Given the description of an element on the screen output the (x, y) to click on. 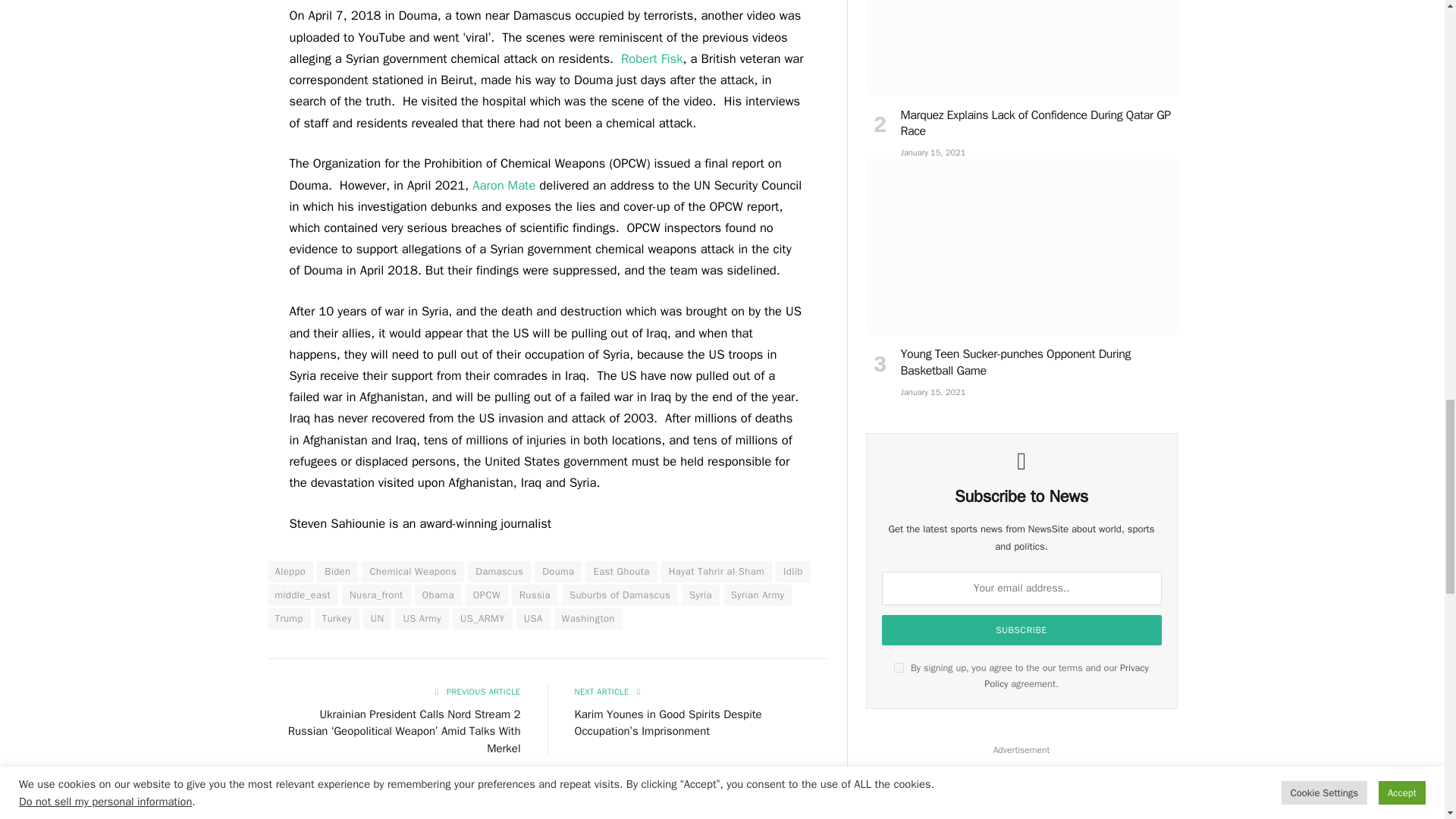
Subscribe (1021, 630)
on (898, 667)
